Given the description of an element on the screen output the (x, y) to click on. 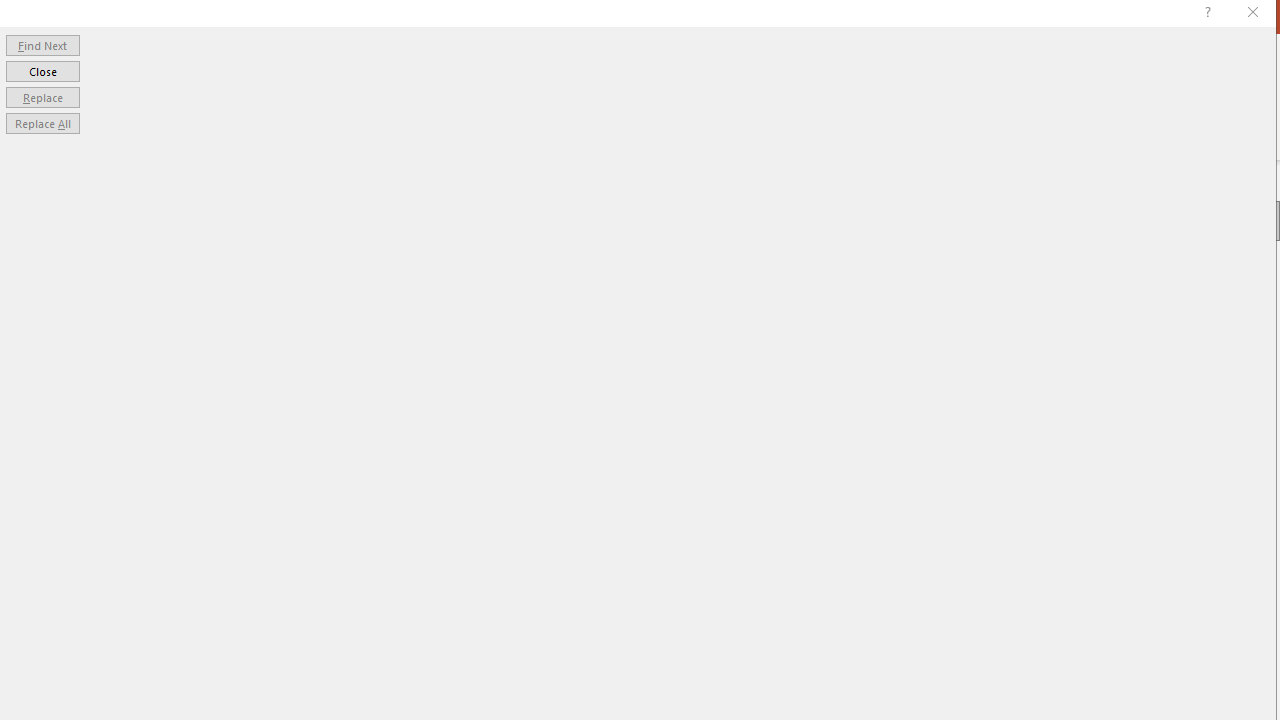
Find Next (42, 44)
Page right (1106, 458)
Fill (987, 223)
Solid fill (1022, 300)
Transparency (1103, 458)
